Given the description of an element on the screen output the (x, y) to click on. 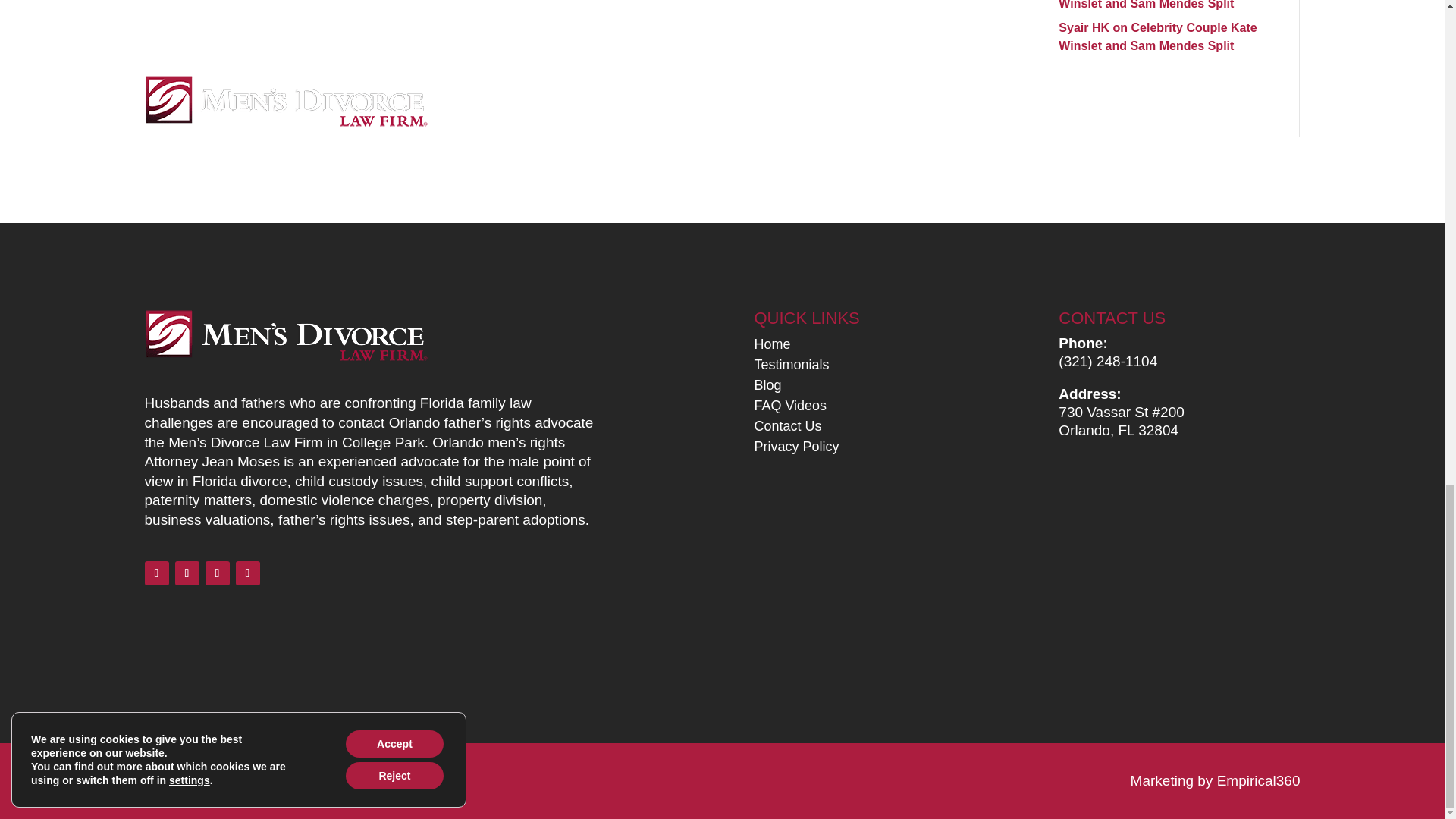
Follow on LinkedIn (186, 573)
mens-divorce-law-firm-logo (285, 336)
Follow on Youtube (216, 573)
Follow on Instagram (246, 573)
Follow on Facebook (156, 573)
